Given the description of an element on the screen output the (x, y) to click on. 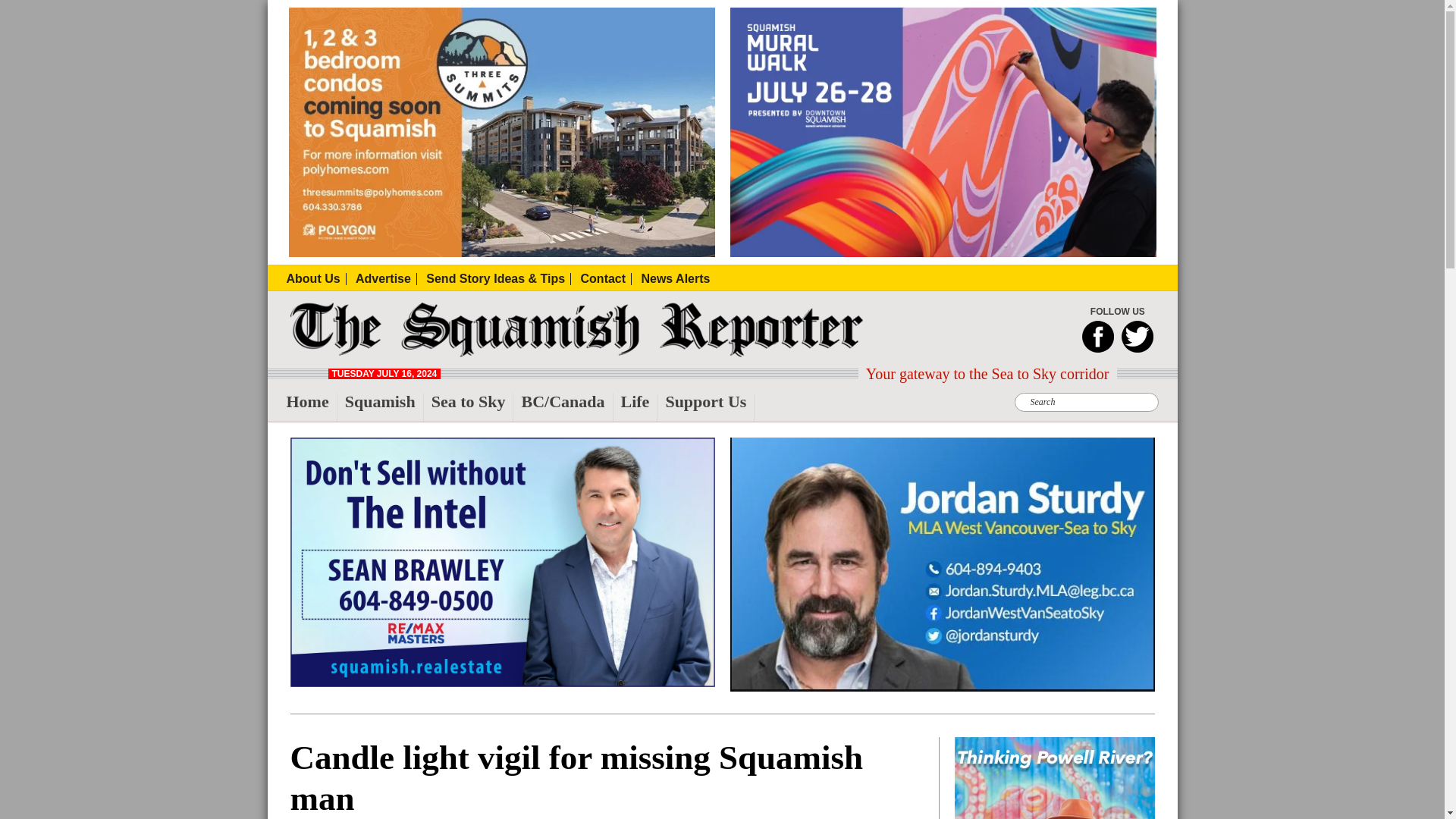
Life (639, 407)
Sea to Sky (471, 407)
News Alerts (675, 278)
Squamish (384, 407)
Search (455, 9)
Home (311, 407)
Support Us (709, 407)
About Us (316, 278)
Contact (605, 278)
Advertise (385, 278)
The Squamish Reporter (321, 351)
